Given the description of an element on the screen output the (x, y) to click on. 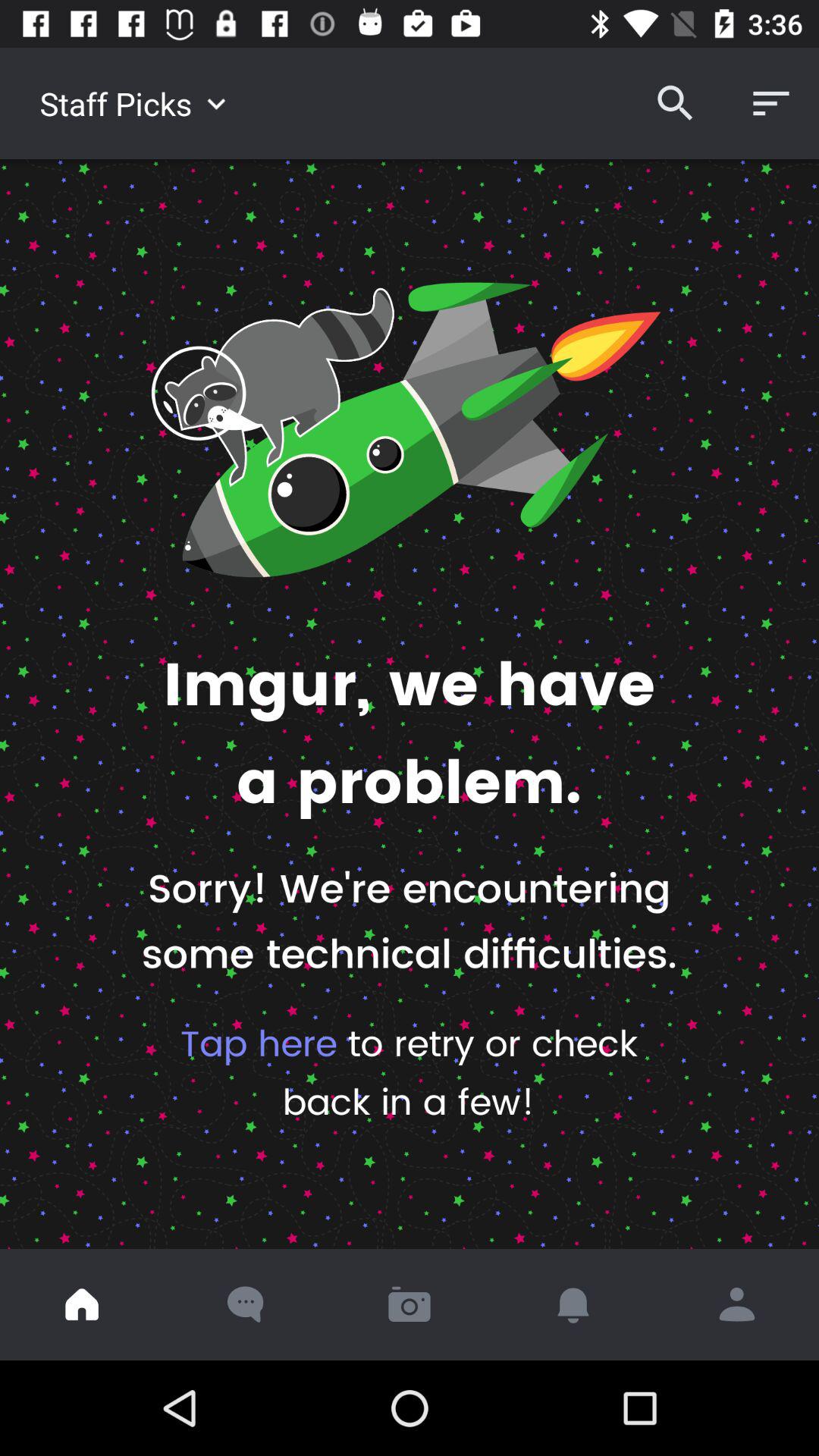
go to profile (737, 1304)
